Given the description of an element on the screen output the (x, y) to click on. 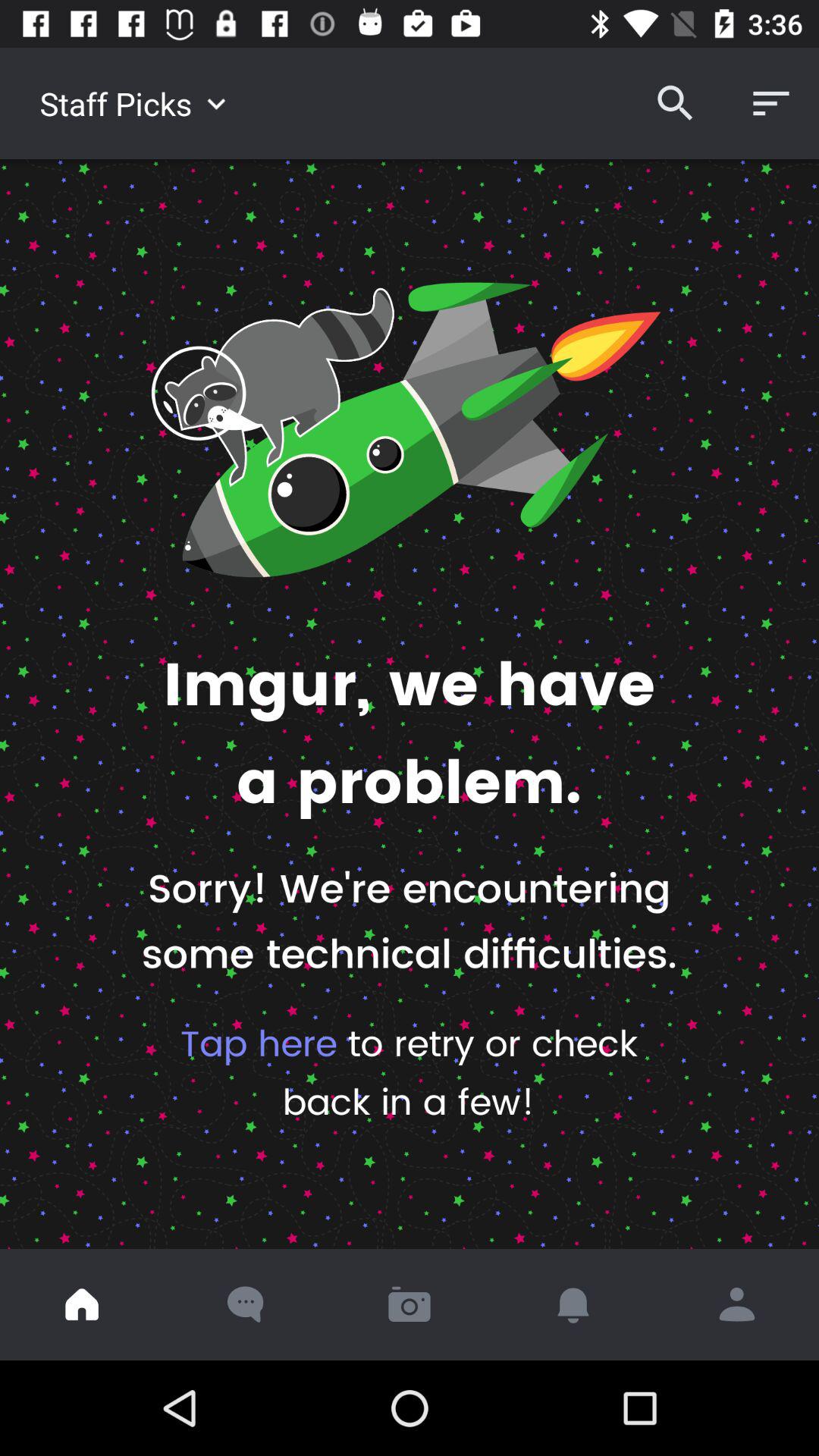
go to profile (737, 1304)
